Given the description of an element on the screen output the (x, y) to click on. 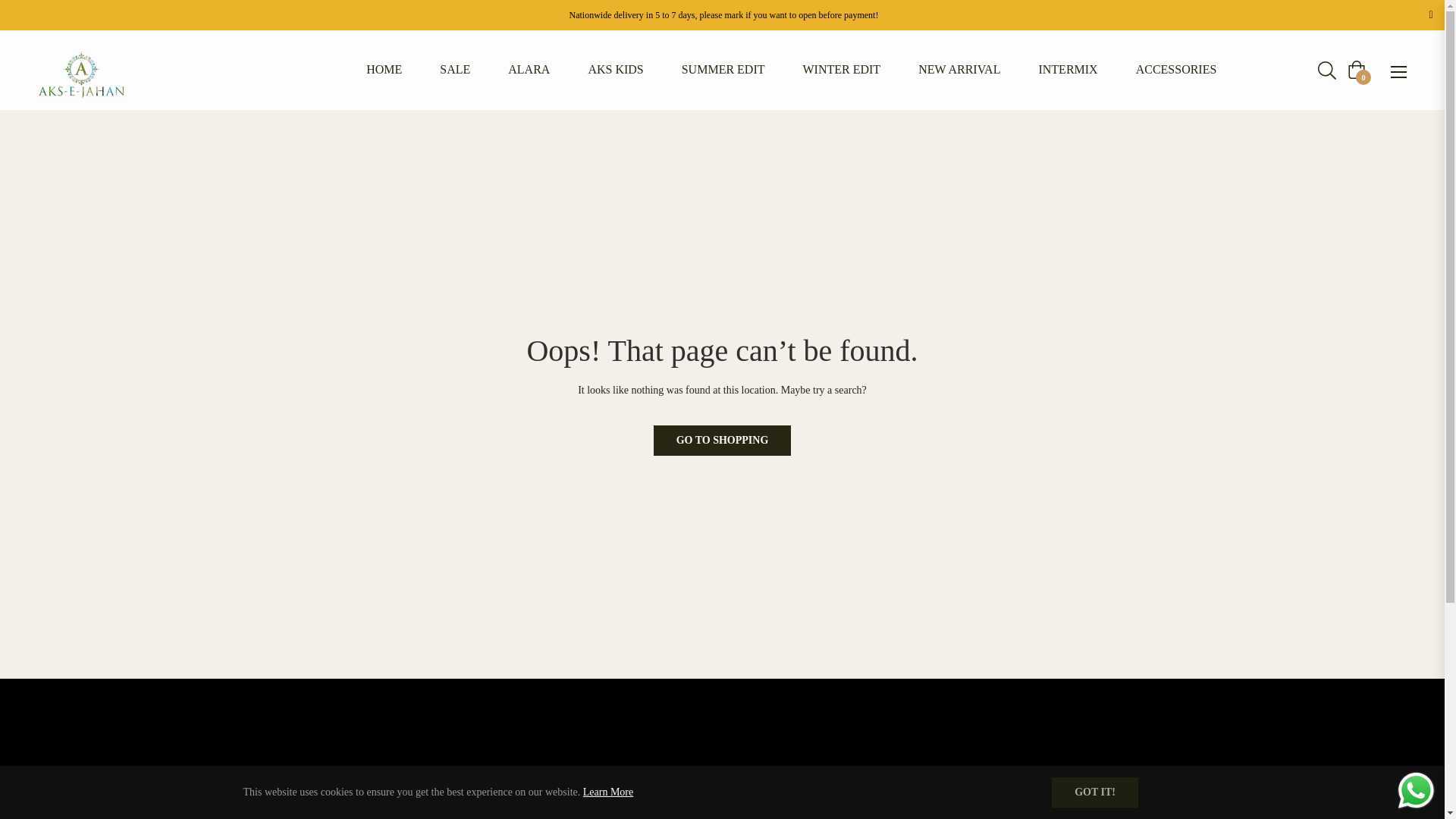
Shopping Cart (1356, 69)
SUMMER EDIT (723, 69)
HOME (383, 69)
AKS KIDS (615, 69)
ALARA (529, 69)
NEW ARRIVAL (959, 69)
WINTER EDIT (841, 69)
INTERMIX (1067, 69)
ACCESSORIES (1176, 69)
